Given the description of an element on the screen output the (x, y) to click on. 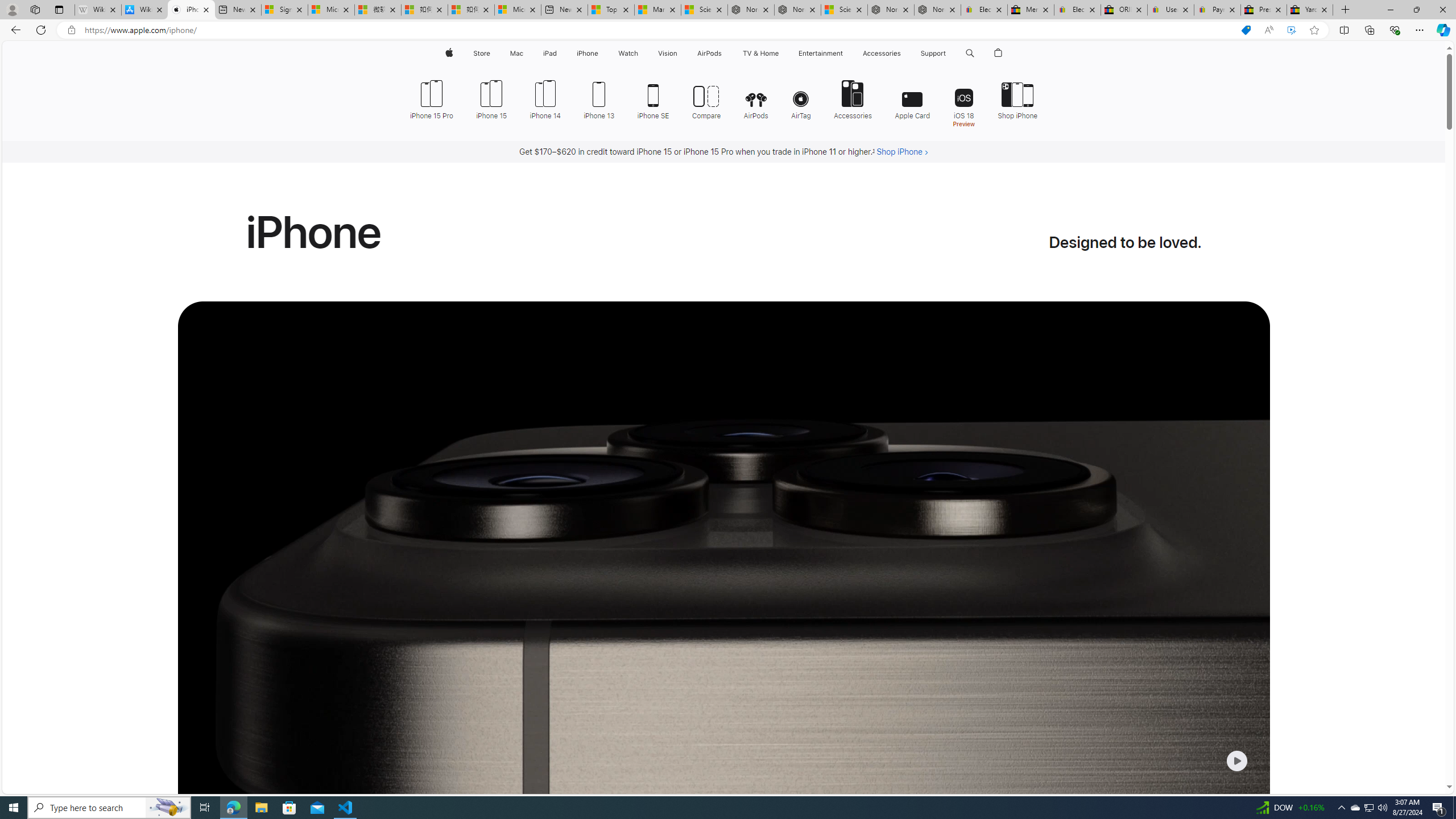
iOS 18 Preview (963, 101)
User Privacy Notice | eBay (1170, 9)
Apple Card (912, 98)
TV and Home (759, 53)
Accessories menu (903, 53)
Microsoft account | Account Checkup (517, 9)
iPad (550, 53)
iPhone menu (600, 53)
Enhance video (1291, 29)
Nordace - FAQ (937, 9)
AirTag (801, 98)
